Given the description of an element on the screen output the (x, y) to click on. 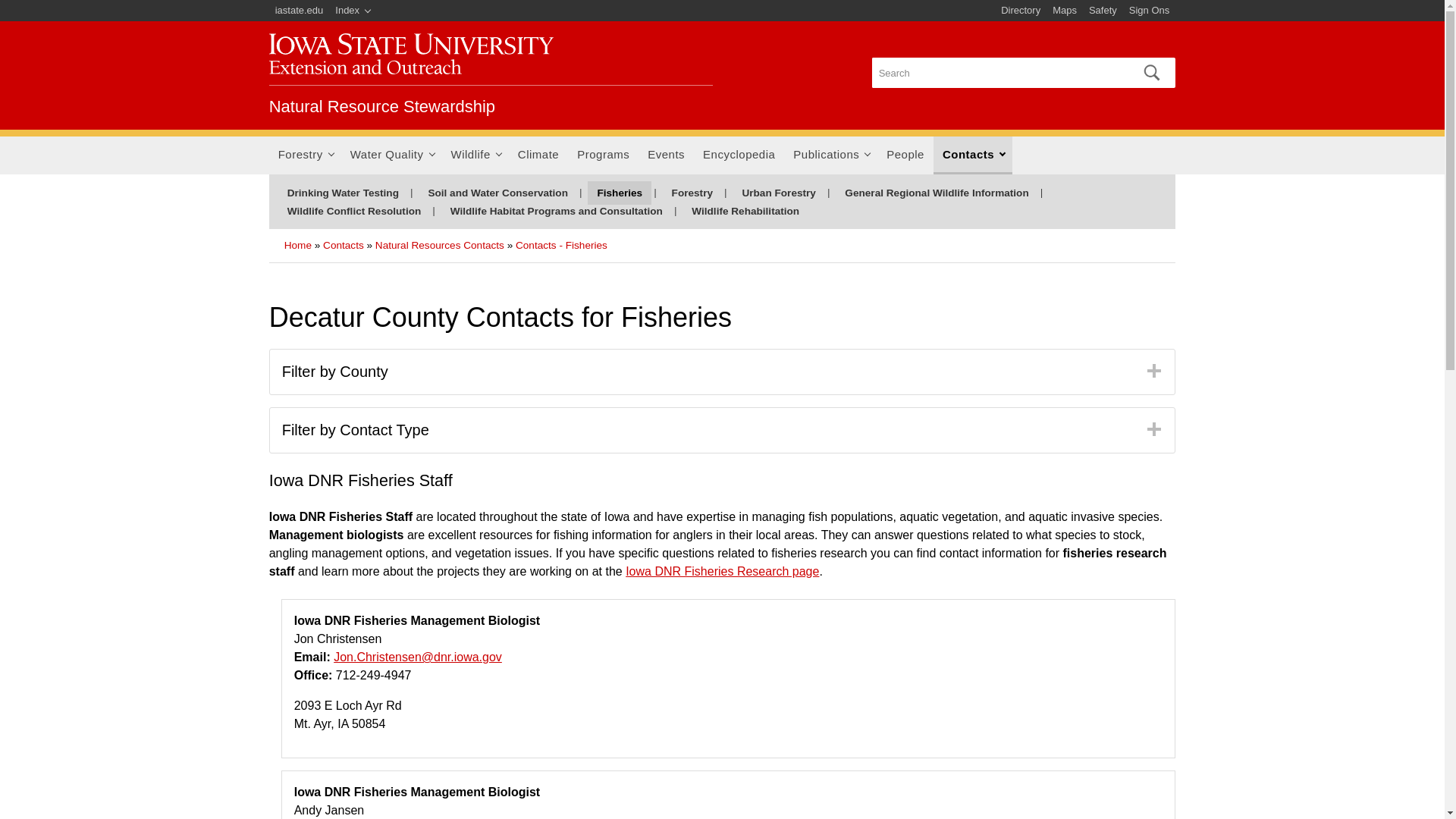
Directory (1020, 10)
Enter the terms you wish to search for. (998, 72)
Natural Resource Stewardship (411, 53)
Maps (1064, 10)
Safety (1102, 10)
Natural Resource Stewardship (382, 106)
Skip to main content (685, 1)
Sign Ons (1148, 10)
Home (382, 106)
Index (353, 10)
Iowa State University Home Page (299, 10)
iastate.edu (299, 10)
